Given the description of an element on the screen output the (x, y) to click on. 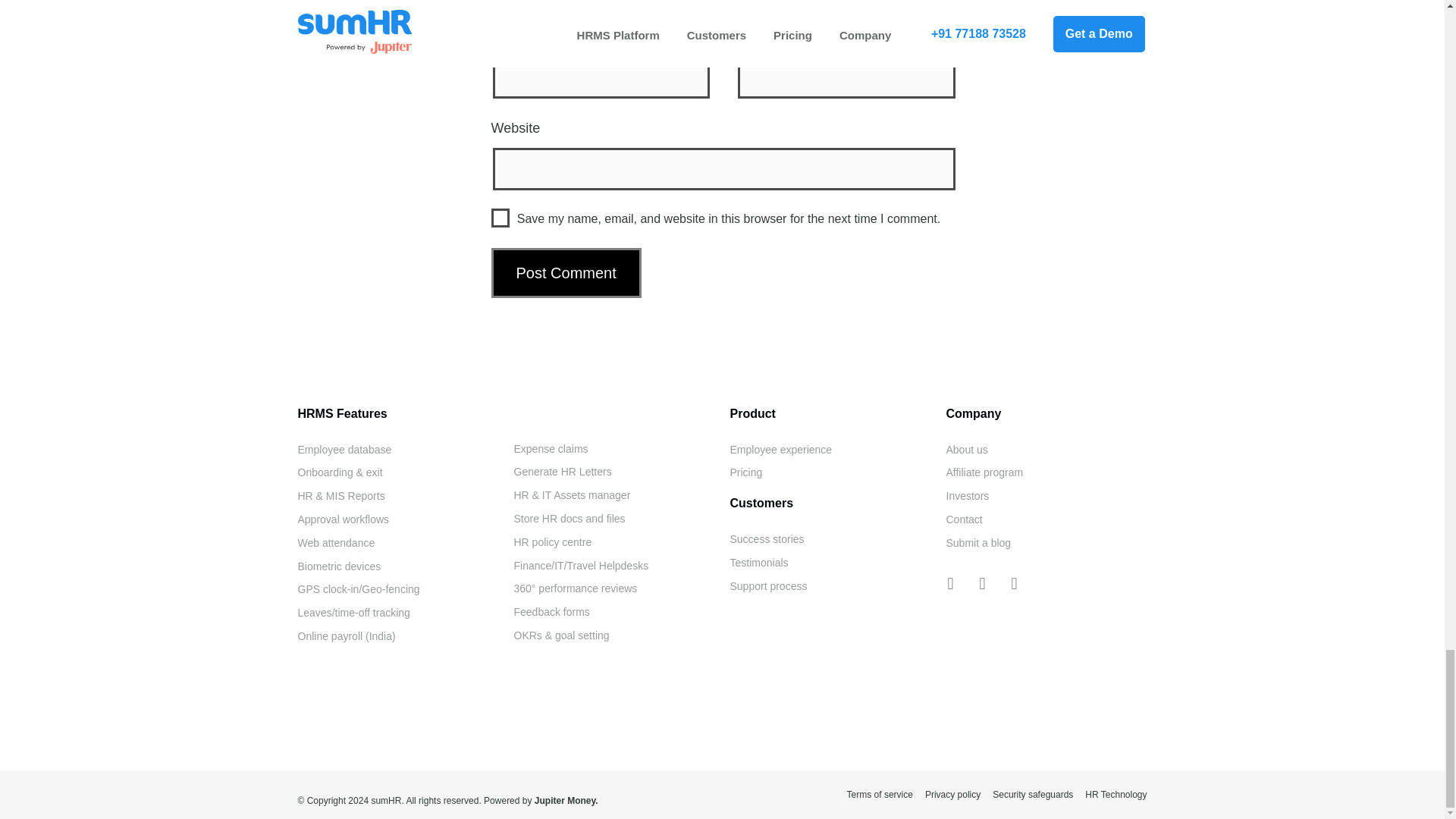
yes (500, 217)
Post Comment (567, 273)
